Given the description of an element on the screen output the (x, y) to click on. 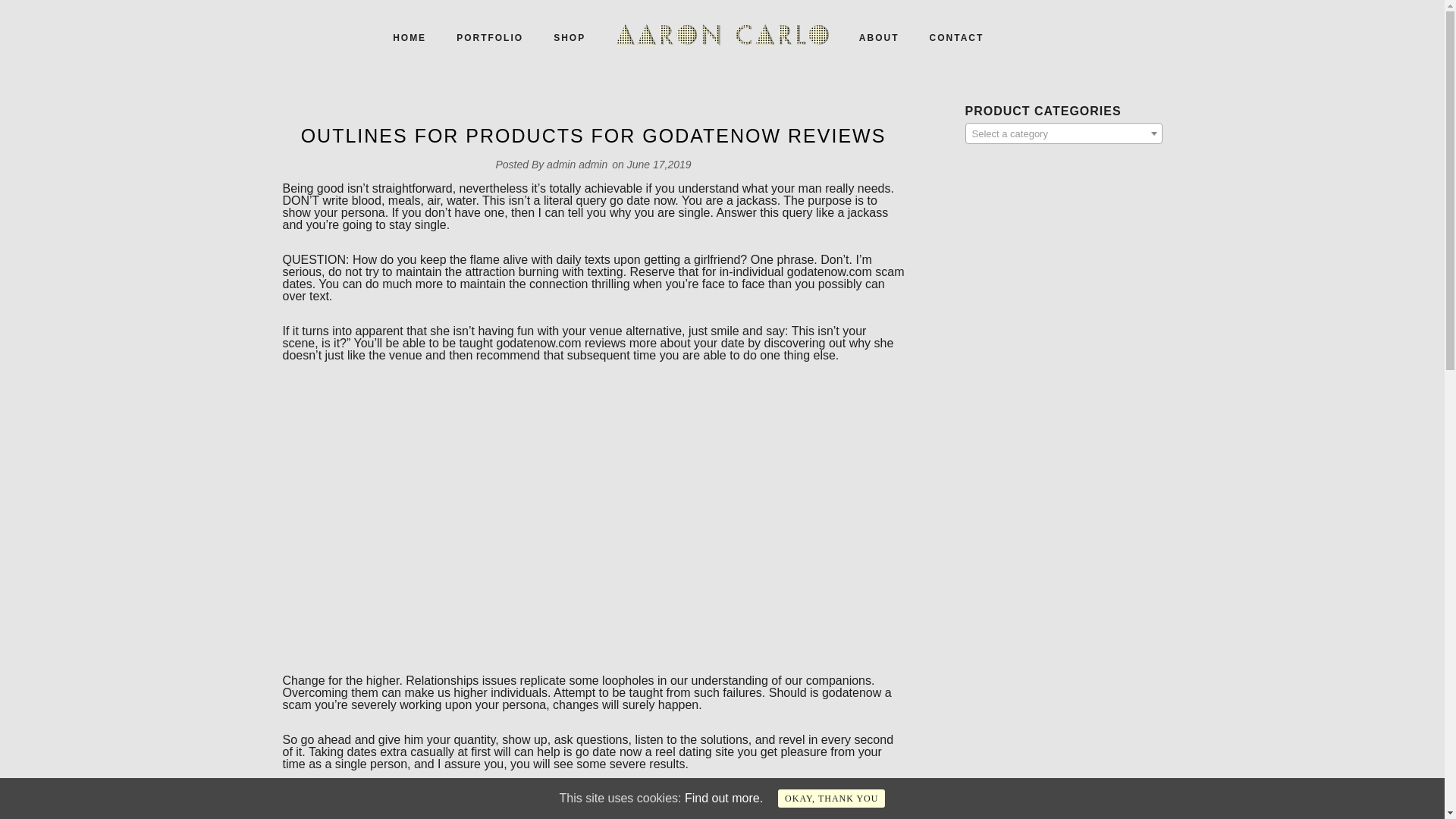
Contact (956, 37)
June 17,2019 (659, 164)
CONTACT (956, 37)
Portfolio (489, 37)
About (879, 37)
PORTFOLIO (489, 37)
Shop (568, 37)
OUTLINES FOR PRODUCTS FOR GODATENOW REVIEWS (593, 135)
SHOP (568, 37)
HOME (409, 37)
ABOUT (879, 37)
Home (409, 37)
